Given the description of an element on the screen output the (x, y) to click on. 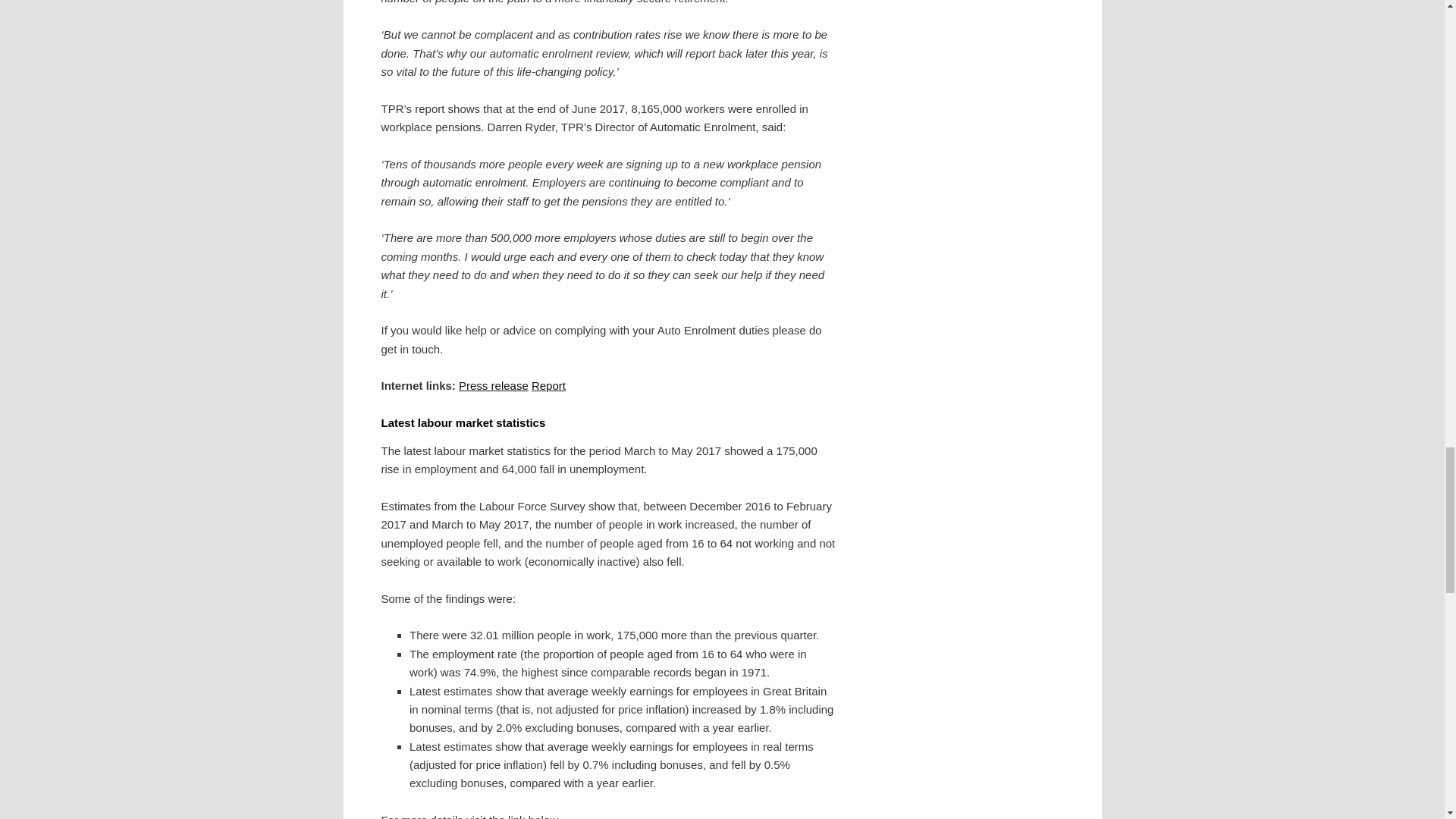
Report (548, 385)
Press release (493, 385)
